Given the description of an element on the screen output the (x, y) to click on. 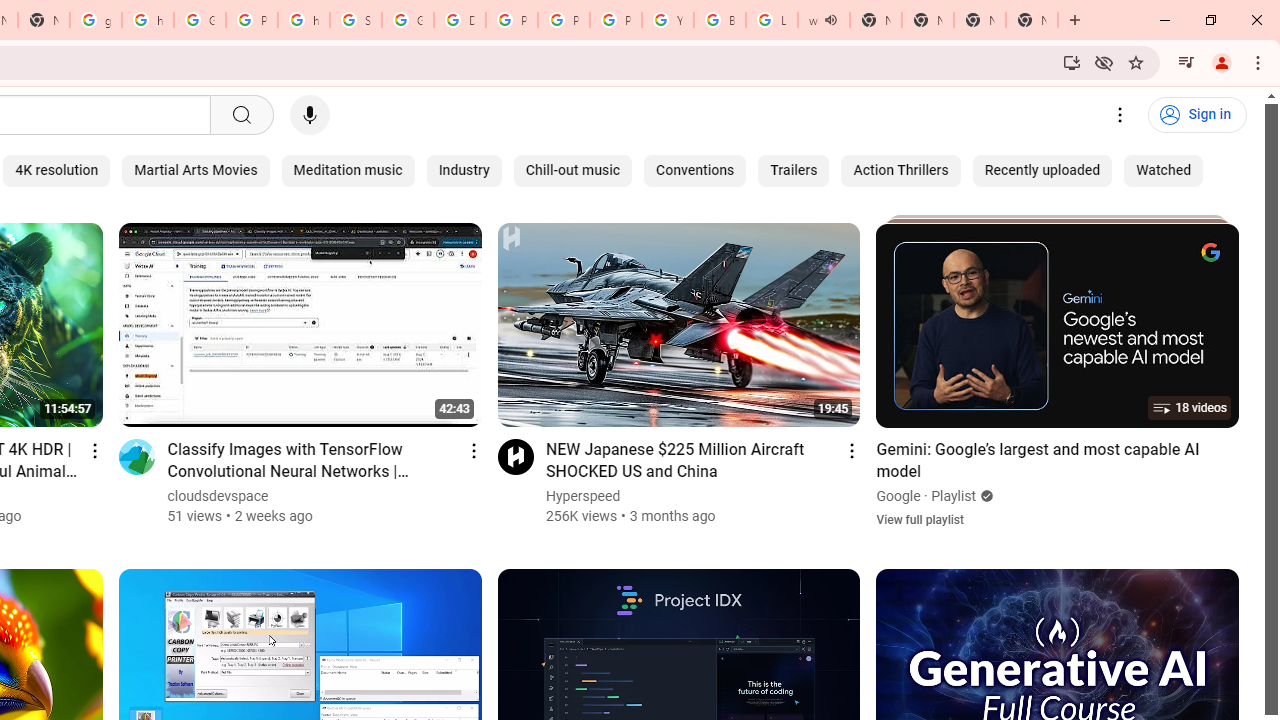
Sign in - Google Accounts (355, 20)
https://scholar.google.com/ (147, 20)
Go to channel (514, 456)
Action menu (852, 449)
Action Thrillers (900, 170)
Verified (984, 495)
New Tab (979, 20)
Playlist (953, 496)
Meditation music (347, 170)
Google (898, 496)
Privacy Help Center - Policies Help (563, 20)
Conventions (695, 170)
